Given the description of an element on the screen output the (x, y) to click on. 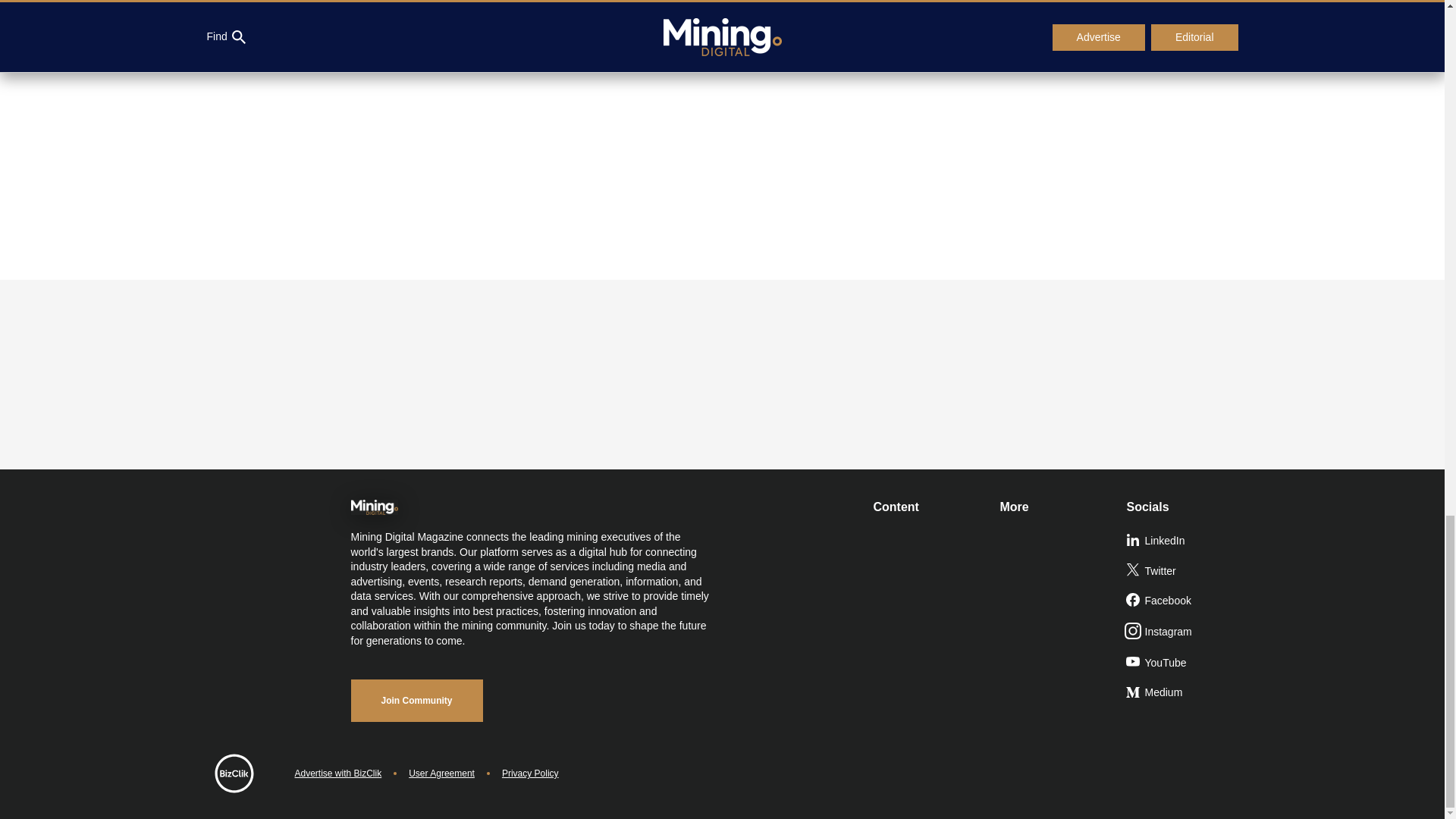
Instagram (1182, 632)
Join Community (415, 700)
Facebook (1182, 601)
Advertise with BizClik (337, 773)
Twitter (1182, 571)
Privacy Policy (530, 773)
Medium (1182, 693)
LinkedIn (1182, 541)
User Agreement (441, 773)
YouTube (1182, 663)
